Given the description of an element on the screen output the (x, y) to click on. 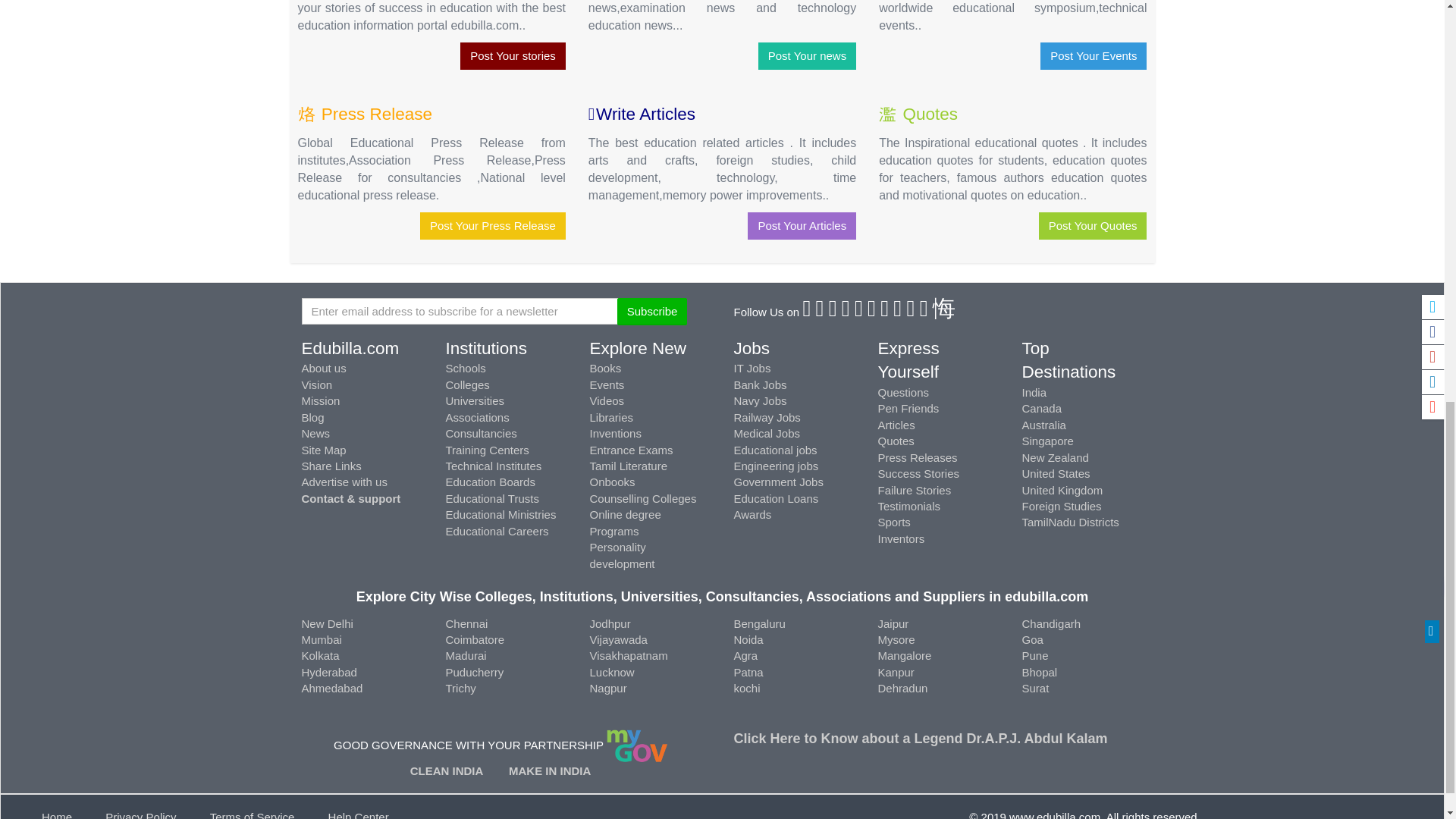
Post Your Quotes (1093, 225)
Twitter (820, 311)
Post Your news (807, 55)
Wordpress (912, 311)
Linkedin (846, 311)
Google Plus (833, 311)
Post Your Articles (802, 225)
Slideshare (925, 311)
Post Your Press Release (493, 225)
Quotes (930, 113)
Post Your stories (513, 55)
Post Your Events (1094, 55)
flickr (884, 311)
Tumblr (872, 311)
Subscribe (652, 311)
